Given the description of an element on the screen output the (x, y) to click on. 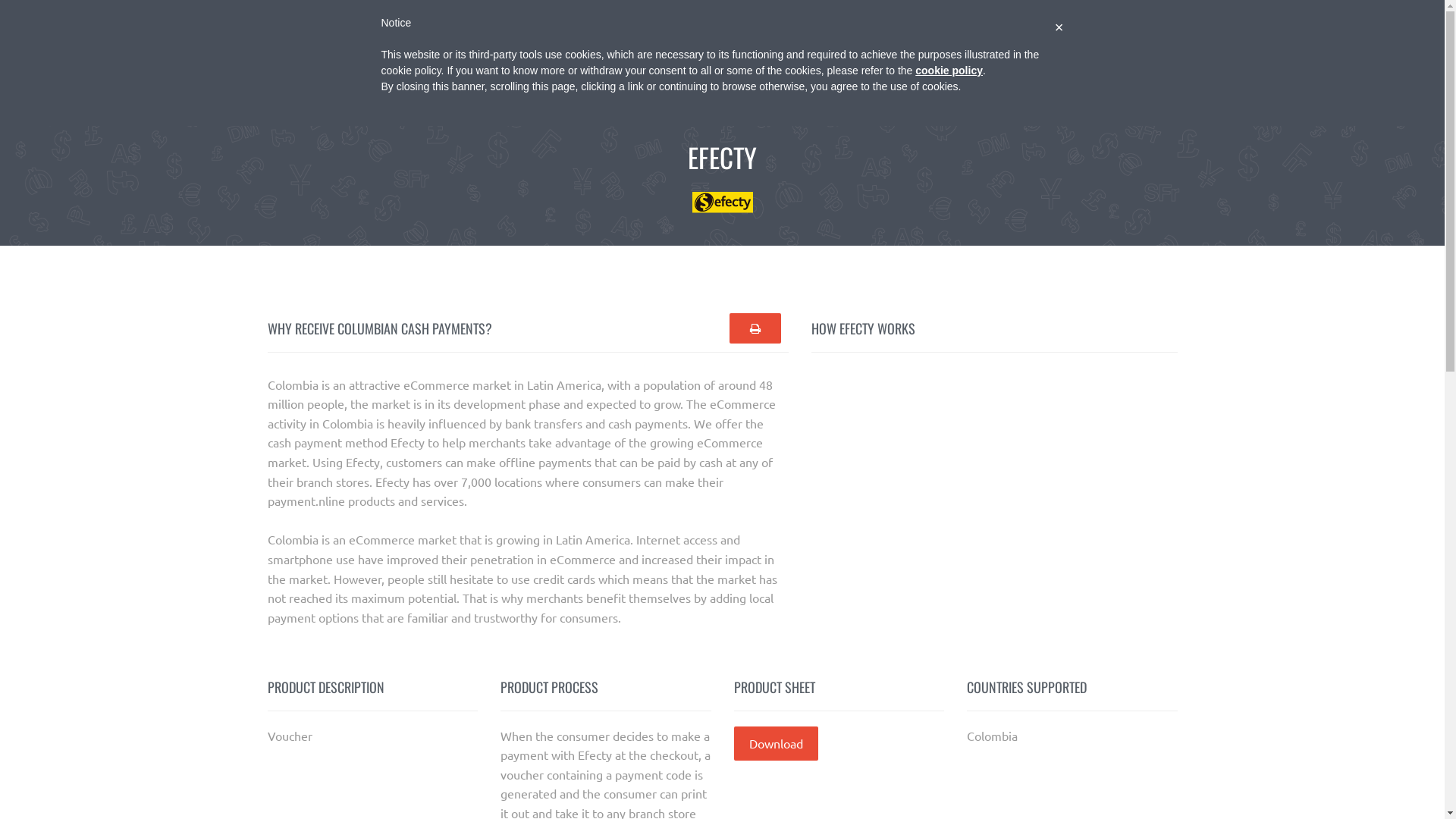
PSPs Element type: text (1106, 15)
FEATURES Element type: text (881, 71)
BLOG Element type: text (1180, 71)
Company Element type: text (848, 15)
SEPA DIRECT DEBIT Element type: text (1084, 71)
Download Element type: text (776, 743)
Payment Widget Element type: text (935, 15)
Payment Methods Element type: text (1030, 15)
CREATE TEST ACCOUNT Element type: text (1281, 68)
DEVELOPERS Element type: text (972, 71)
cookie policy Element type: text (948, 70)
Support Center Element type: text (1184, 15)
Login Element type: text (1262, 15)
Contact Element type: text (1322, 15)
